Given the description of an element on the screen output the (x, y) to click on. 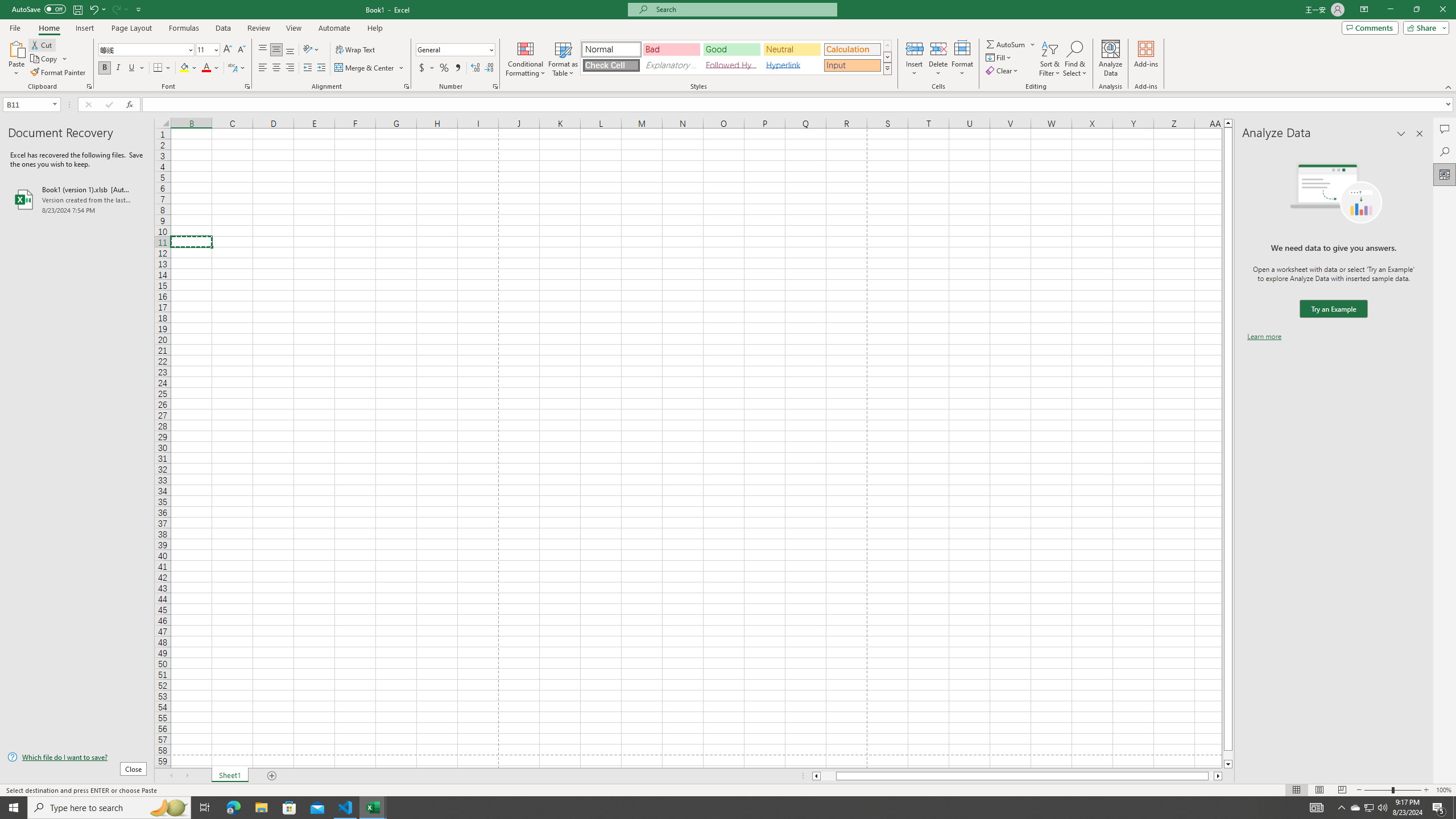
Bottom Border (157, 67)
Delete Cells... (938, 48)
Check Cell (611, 65)
Font Color RGB(255, 0, 0) (206, 67)
Align Left (262, 67)
Accounting Number Format (422, 67)
Font (142, 49)
